Given the description of an element on the screen output the (x, y) to click on. 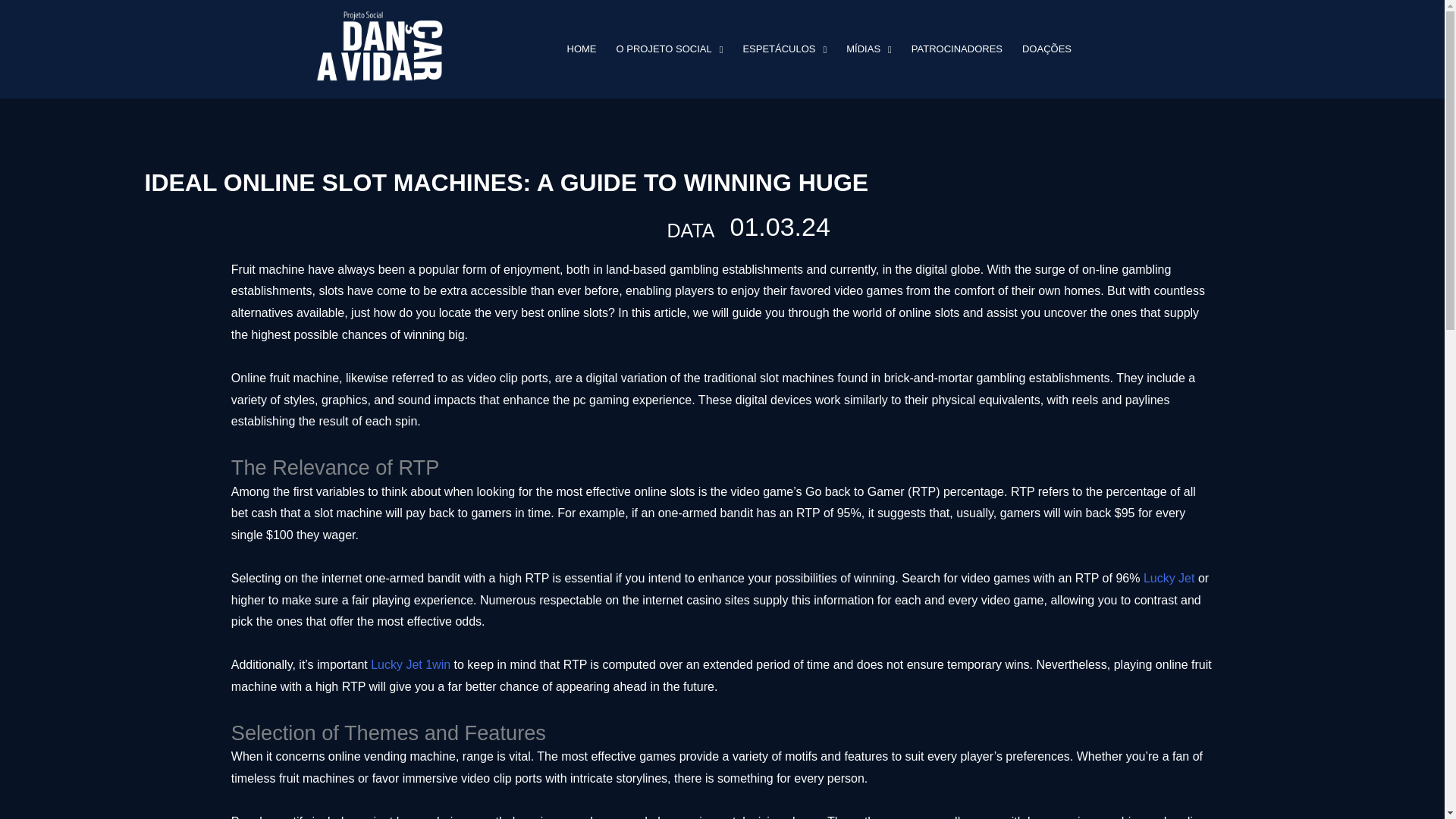
HOME (580, 48)
Lucky Jet 1win (410, 664)
PATROCINADORES (956, 48)
Lucky Jet (1168, 577)
O PROJETO SOCIAL (670, 48)
